Given the description of an element on the screen output the (x, y) to click on. 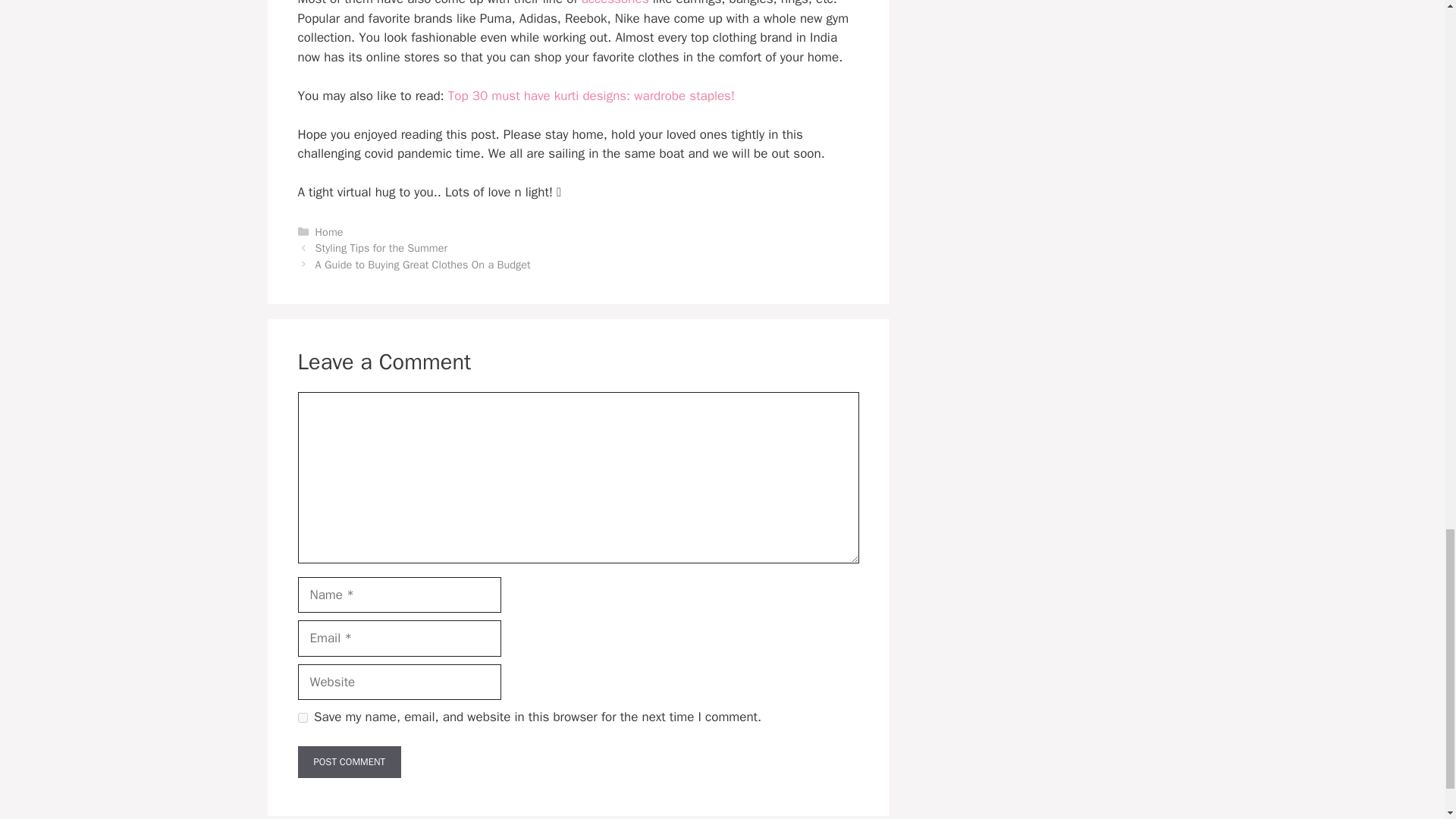
accessories (614, 3)
A Guide to Buying Great Clothes On a Budget (423, 264)
Post Comment (349, 762)
Top 30 must have kurti designs: wardrobe staples! (591, 95)
Styling Tips for the Summer (380, 247)
yes (302, 717)
Post Comment (349, 762)
Home (329, 232)
